Given the description of an element on the screen output the (x, y) to click on. 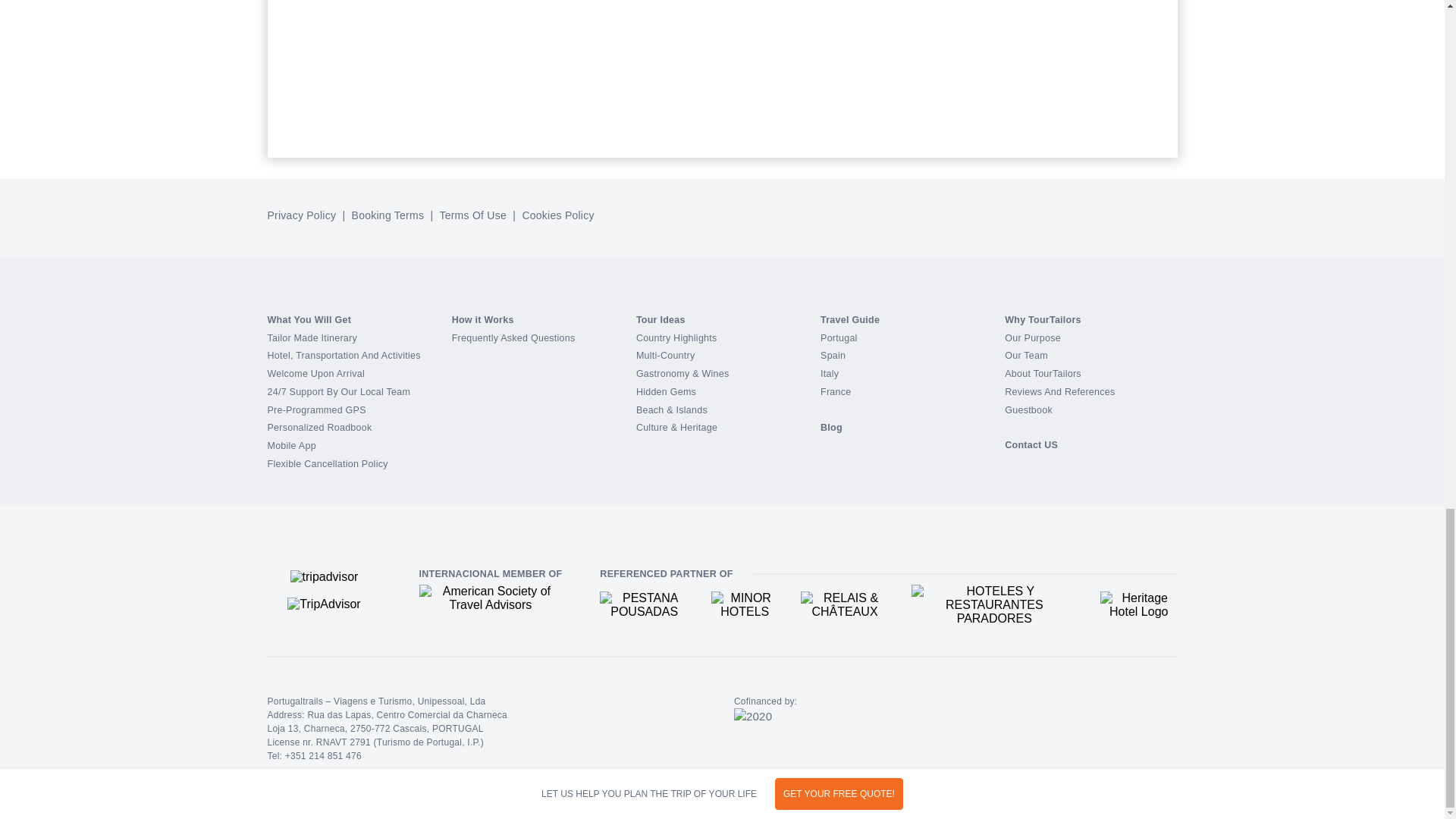
Heritage Hotel (1138, 605)
Terms Of Use (471, 215)
What You Will Get (308, 319)
2020 (752, 716)
Hotel, Transportation And Activities (343, 355)
Privacy Policy  (302, 215)
Tailor Made Itinerary (311, 337)
Cookies Policy (557, 215)
Welcome Upon Arrival (315, 373)
Personalized Roadbook (318, 427)
